Given the description of an element on the screen output the (x, y) to click on. 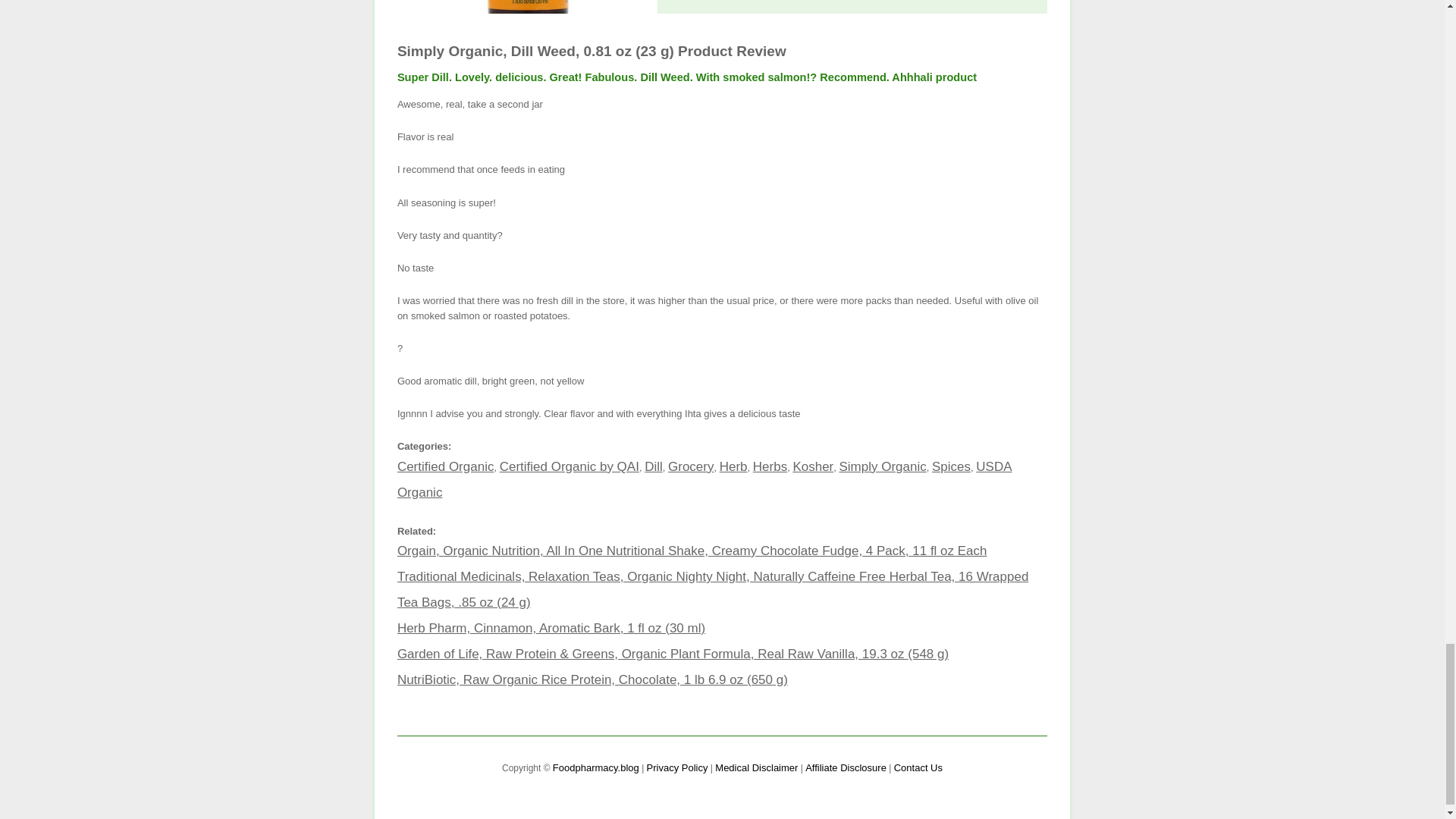
Certified Organic by QAI (569, 466)
Kosher (812, 466)
Affiliate Disclosure (845, 767)
Certified Organic (446, 466)
Simply Organic (882, 466)
Contact Us (917, 767)
Herb (733, 466)
Dill (653, 466)
Medical Disclaimer (755, 767)
